Given the description of an element on the screen output the (x, y) to click on. 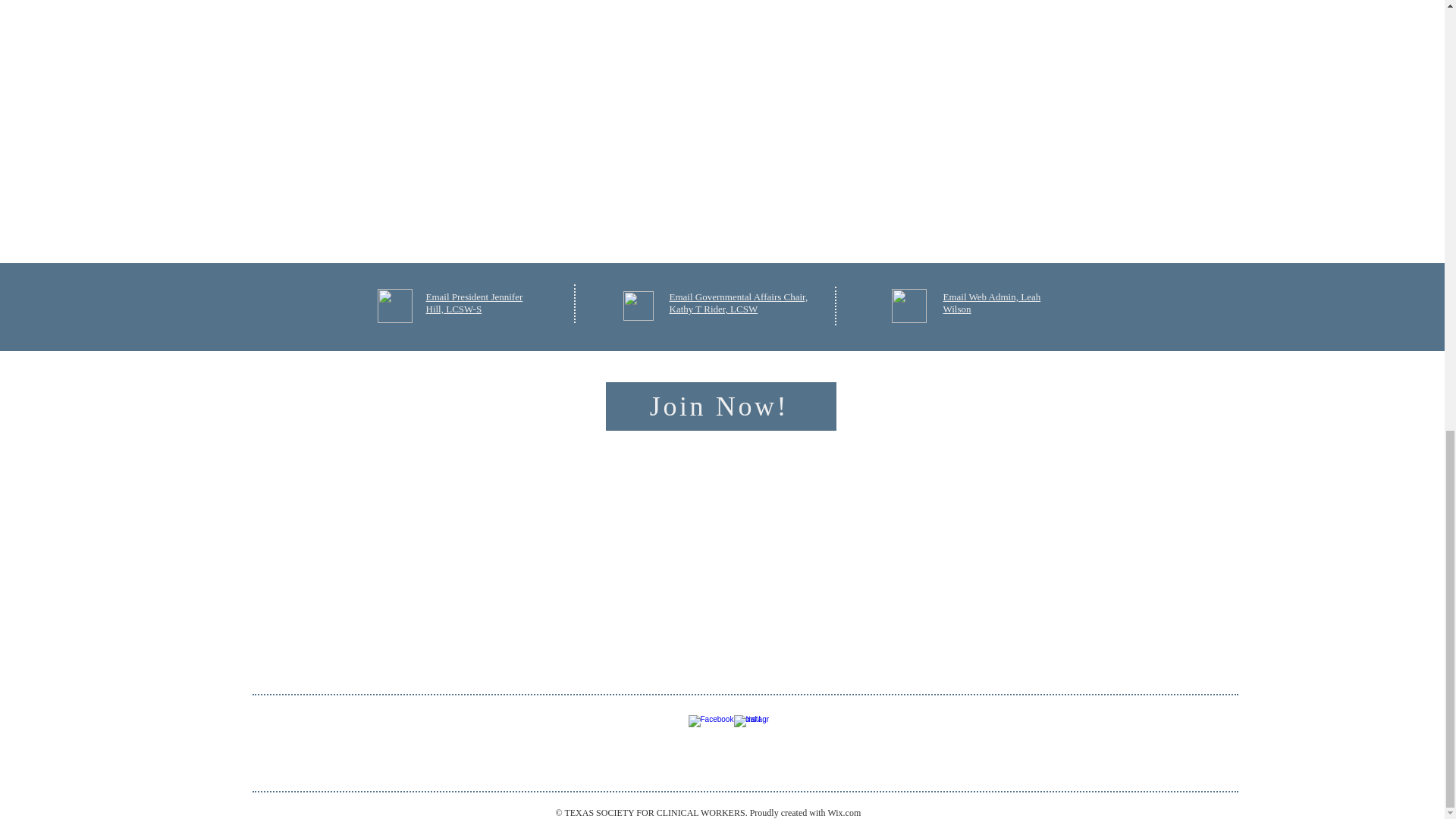
Email President Jennifer Hill, LCSW-S (474, 302)
Email Web Admin, Leah Wilson (992, 302)
Email Governmental Affairs Chair, Kathy T Rider, LCSW (738, 302)
Wix.com (843, 812)
Join Now! (720, 406)
